Given the description of an element on the screen output the (x, y) to click on. 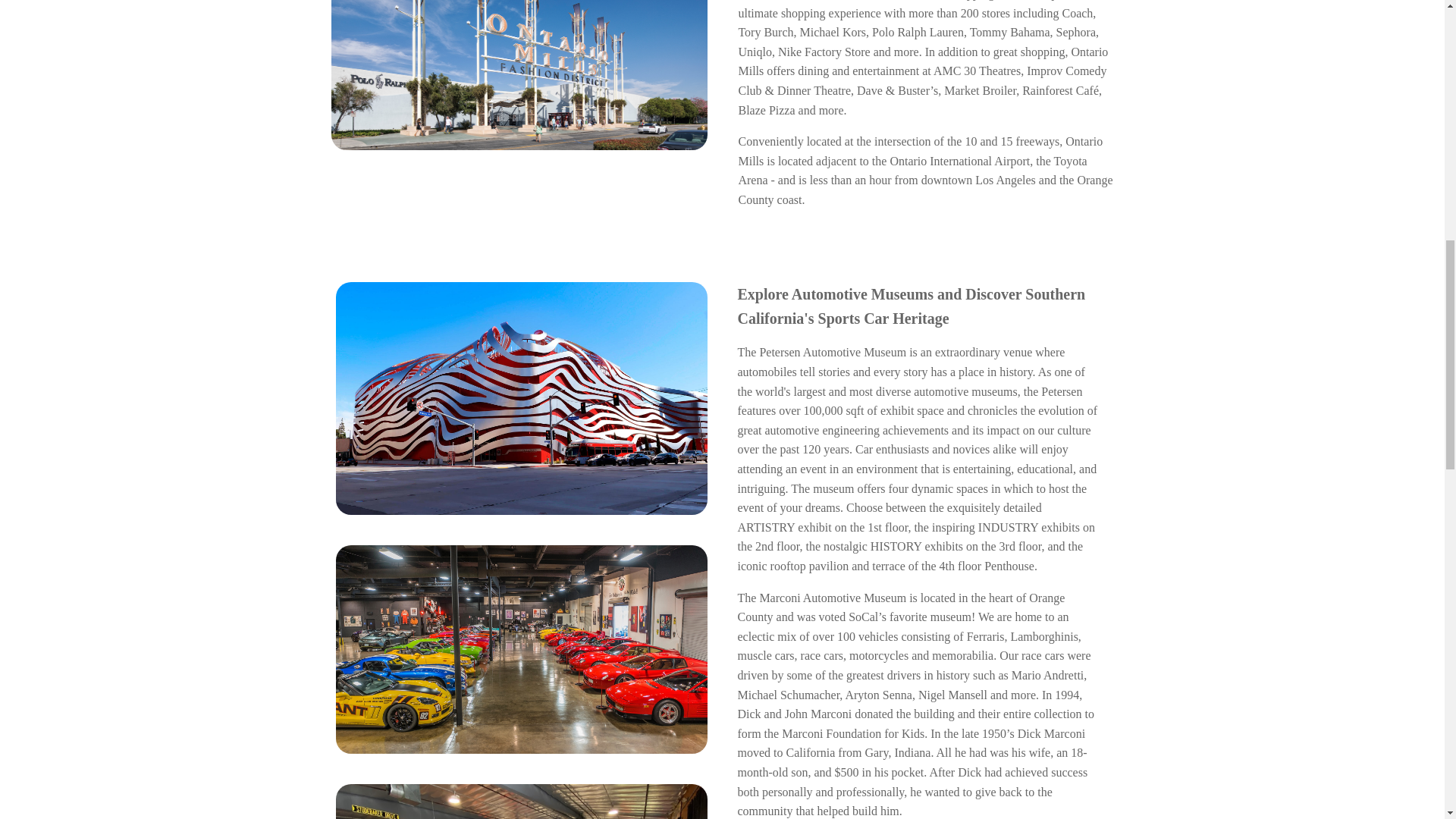
Zimmerman ADM (520, 801)
Marconi-Automotive-Foundation-For-Kids-Showroom (520, 649)
Ontario Mills (518, 74)
Petersen Museum (520, 397)
